Given the description of an element on the screen output the (x, y) to click on. 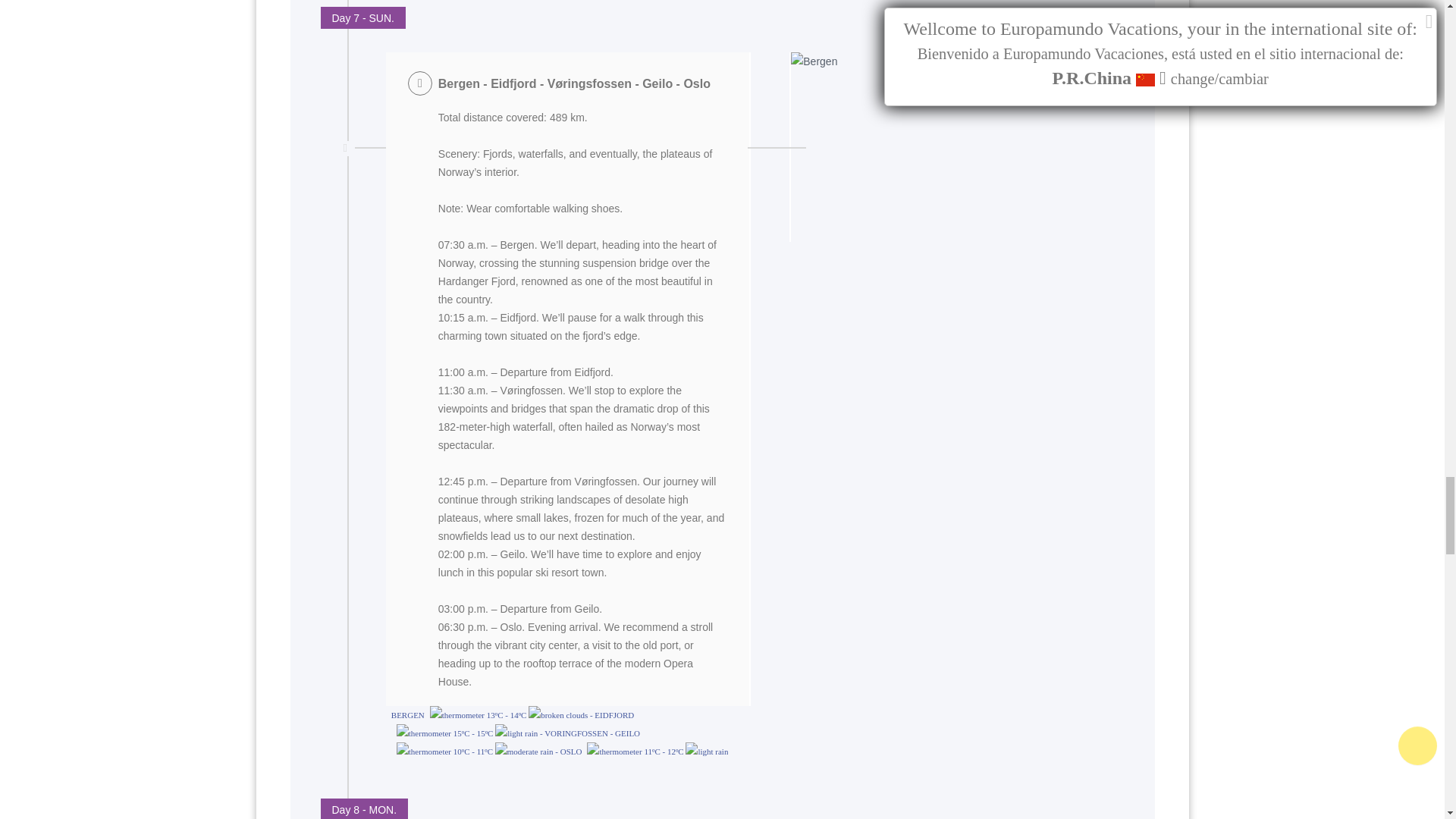
broken clouds (558, 714)
moderate rain (524, 751)
light rain (516, 732)
light rain (706, 751)
